Given the description of an element on the screen output the (x, y) to click on. 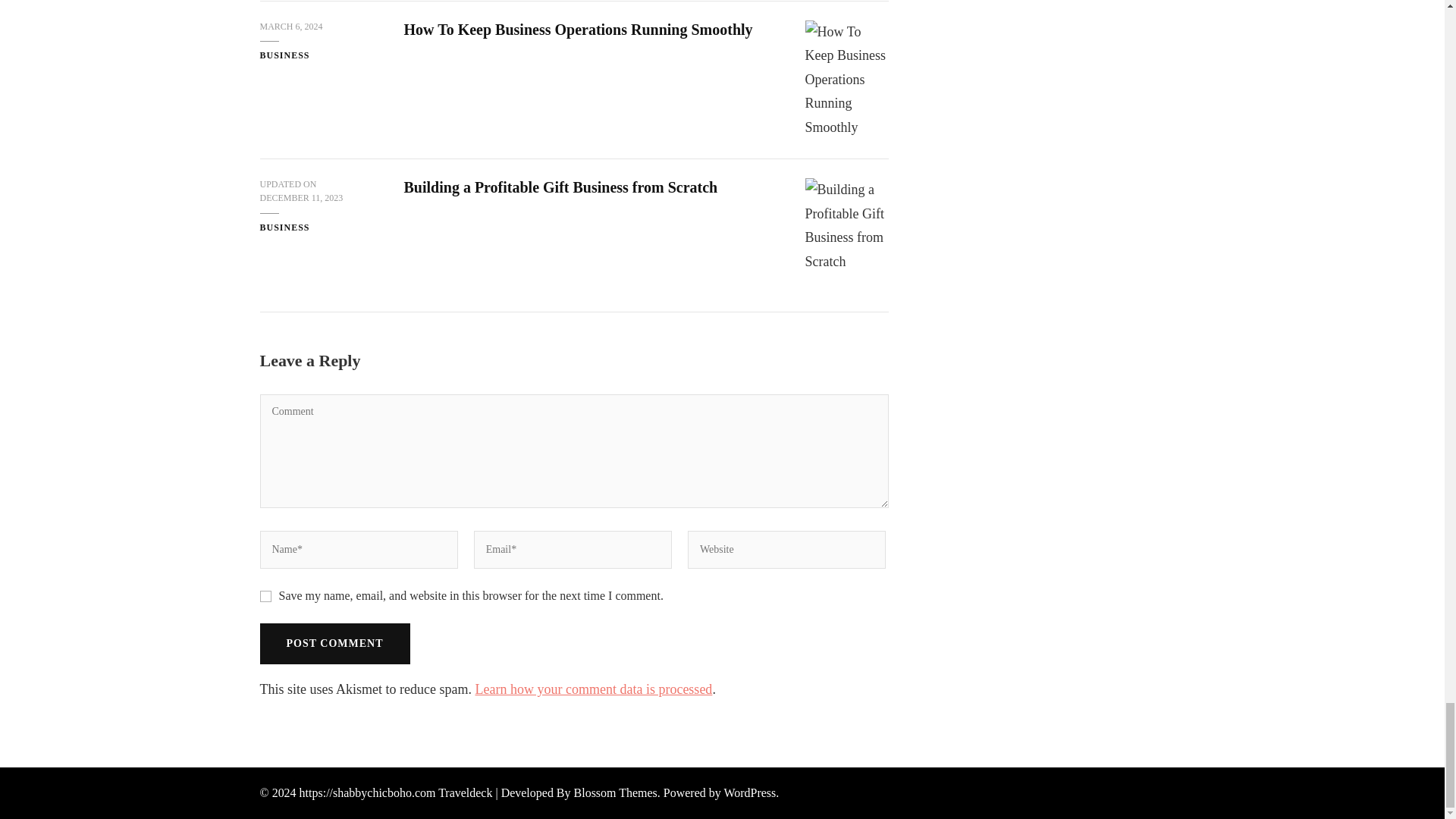
Post Comment (334, 643)
